Given the description of an element on the screen output the (x, y) to click on. 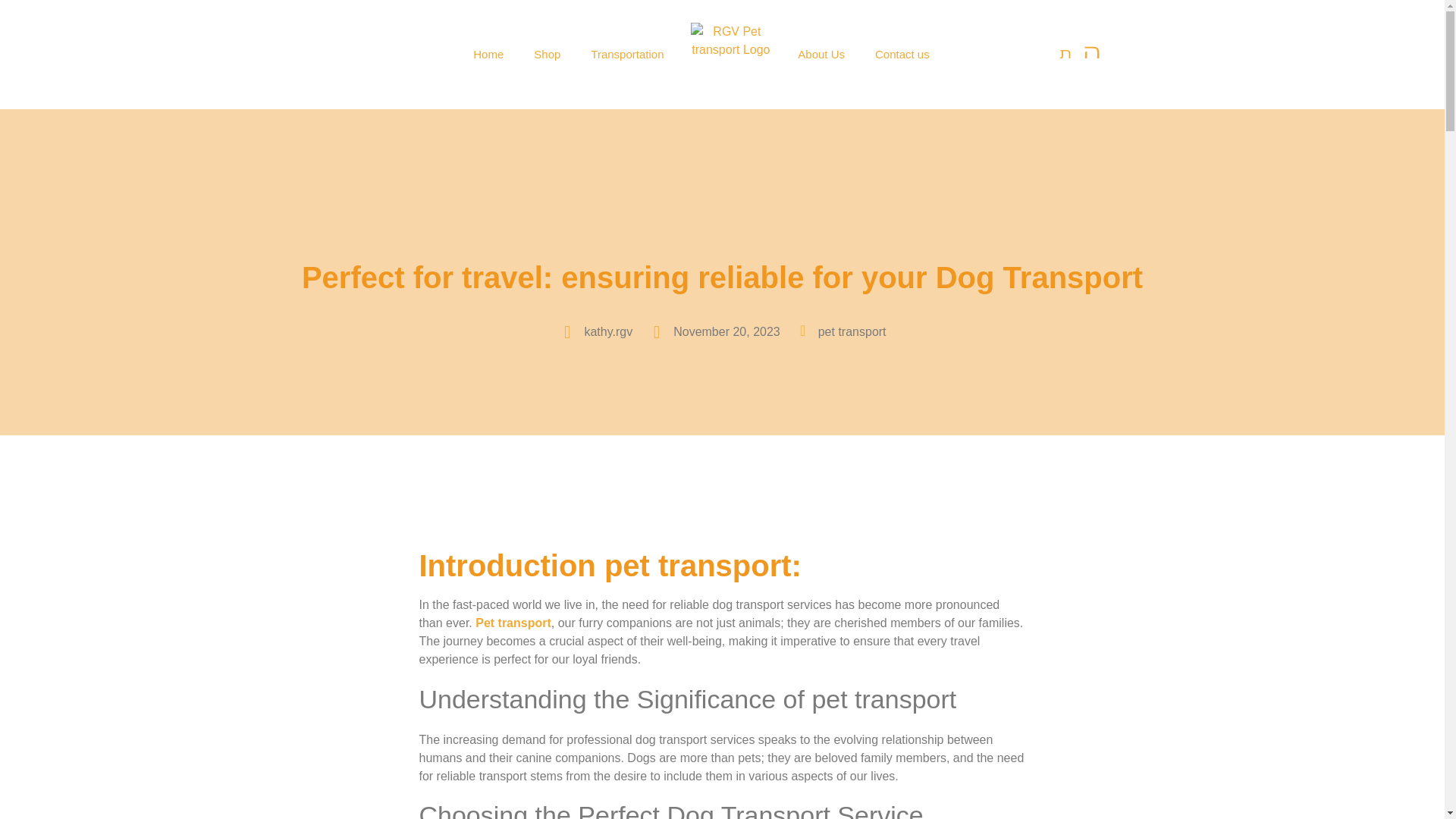
Contact us (902, 53)
Pet transport (513, 622)
Home (488, 53)
Shop (546, 53)
Transportation (626, 53)
About Us (821, 53)
